Given the description of an element on the screen output the (x, y) to click on. 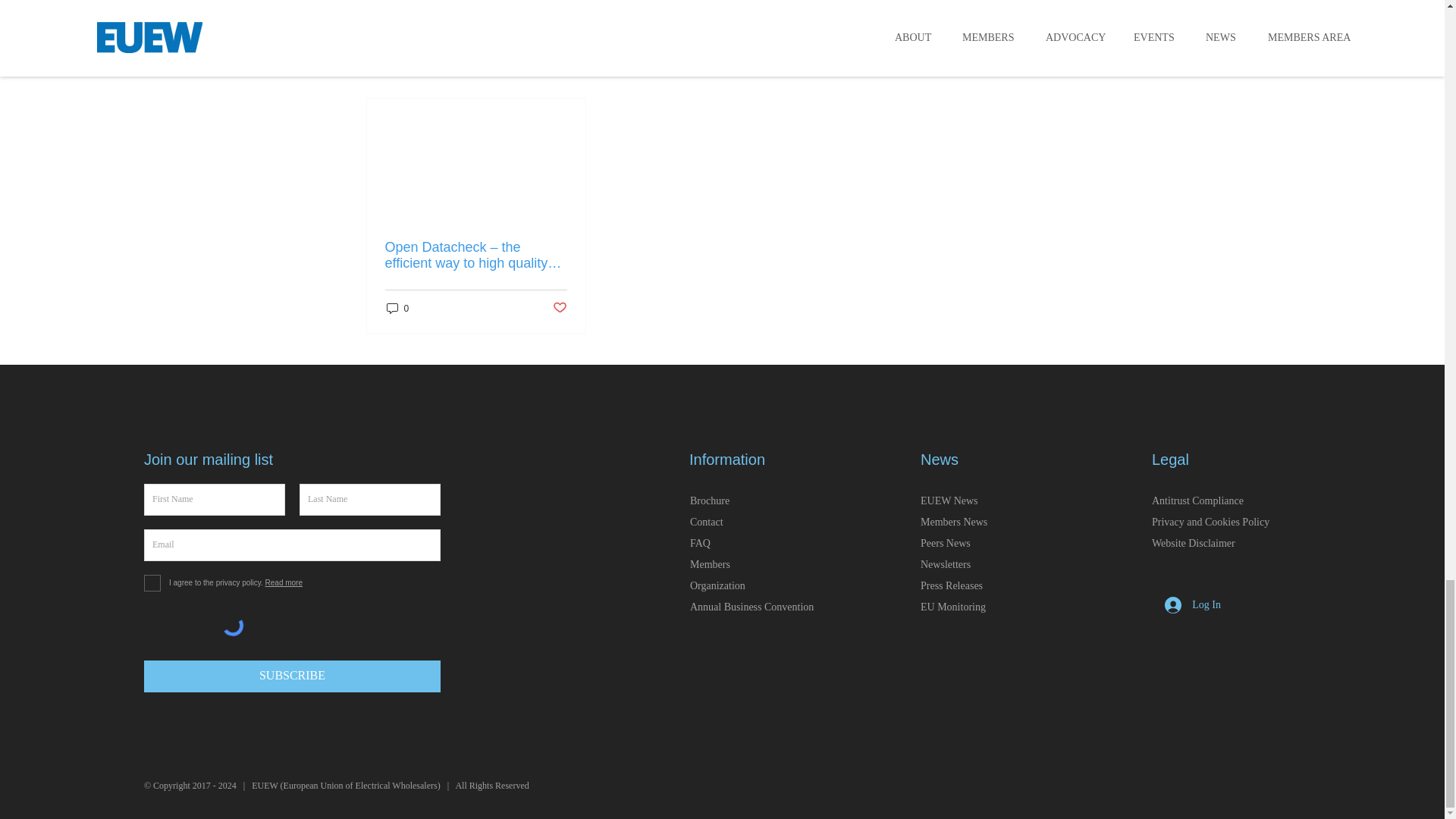
0 (397, 308)
See All (1061, 71)
